Given the description of an element on the screen output the (x, y) to click on. 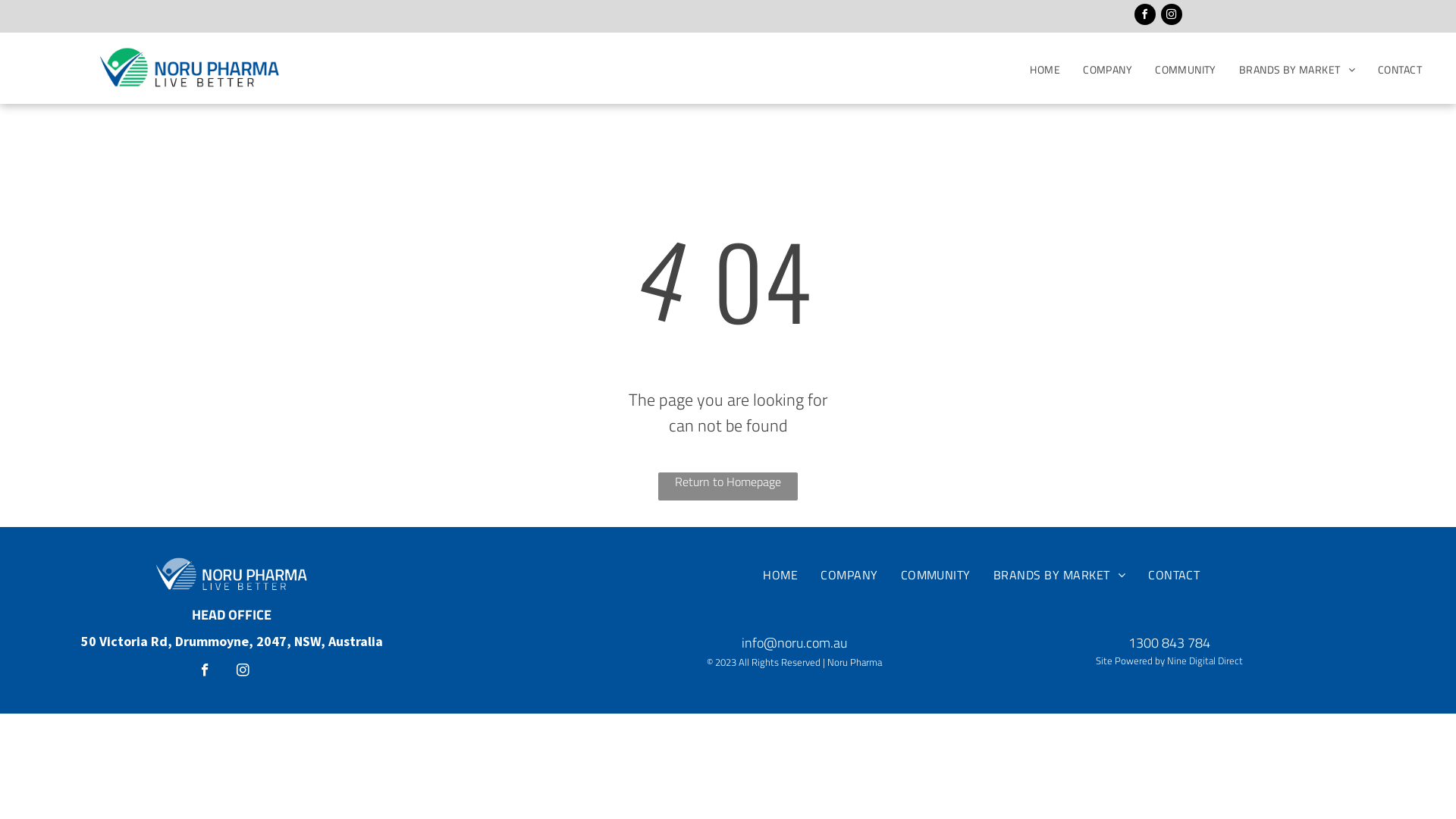
COMPANY Element type: text (848, 574)
HOME Element type: text (780, 574)
BRANDS BY MARKET Element type: text (1059, 574)
BRANDS BY MARKET Element type: text (1296, 69)
CONTACT Element type: text (1173, 574)
HOME Element type: text (1044, 69)
COMMUNITY Element type: text (935, 574)
COMMUNITY Element type: text (1185, 69)
COMPANY Element type: text (1107, 69)
Nine Digital Direct Element type: text (1204, 660)
Return to Homepage Element type: text (727, 486)
CONTACT Element type: text (1399, 69)
